Given the description of an element on the screen output the (x, y) to click on. 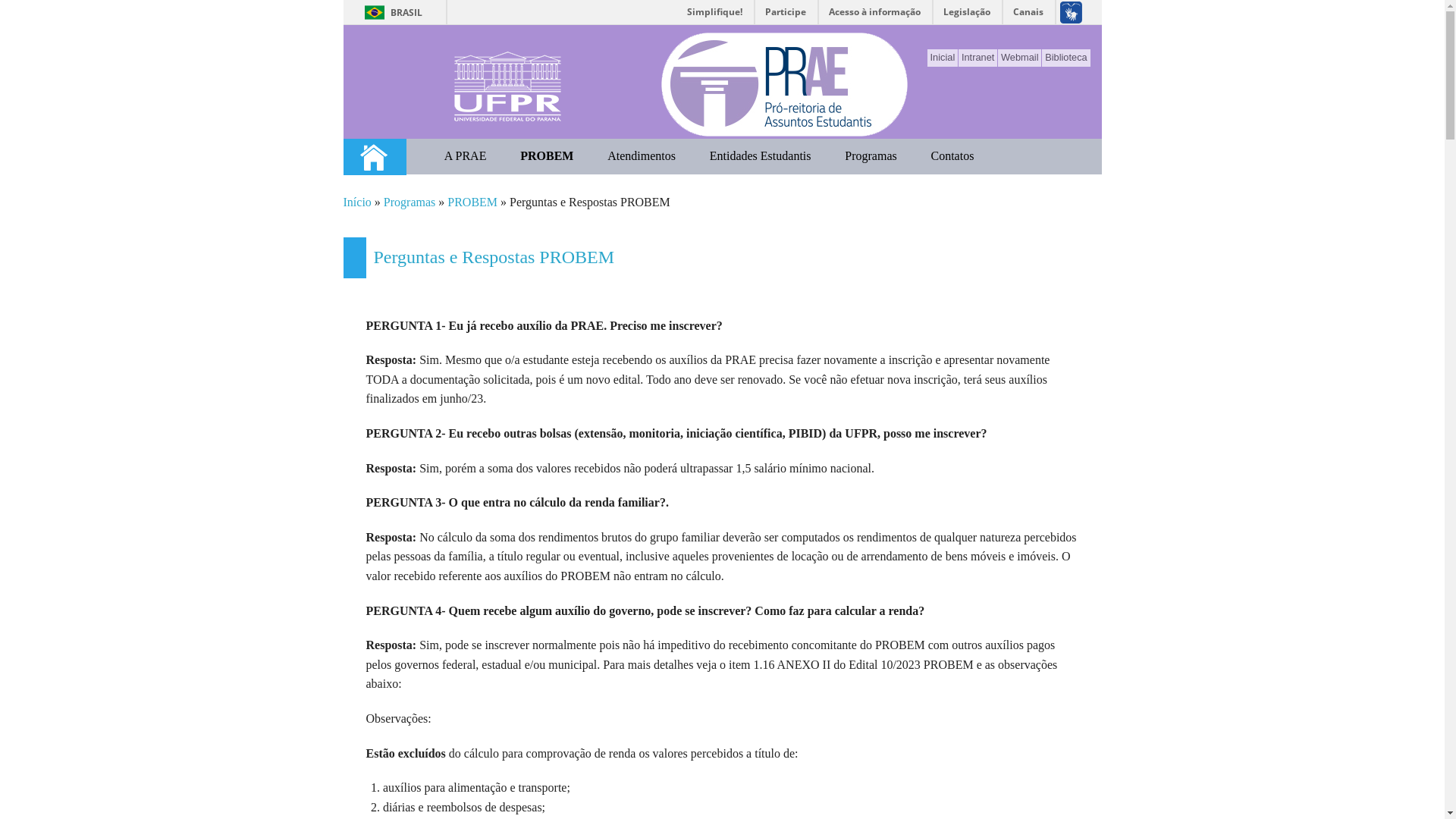
PROBEM Element type: text (546, 156)
Intranet Element type: text (977, 57)
BRASIL Element type: text (389, 12)
Contatos Element type: text (952, 156)
Biblioteca Element type: text (1065, 57)
Programas Element type: text (870, 156)
Entidades Estudantis Element type: text (760, 156)
PROBEM Element type: text (472, 201)
Inicial Element type: text (942, 57)
Atendimentos Element type: text (641, 156)
A PRAE Element type: text (464, 156)
Webmail Element type: text (1019, 57)
Programas Element type: text (409, 201)
